Given the description of an element on the screen output the (x, y) to click on. 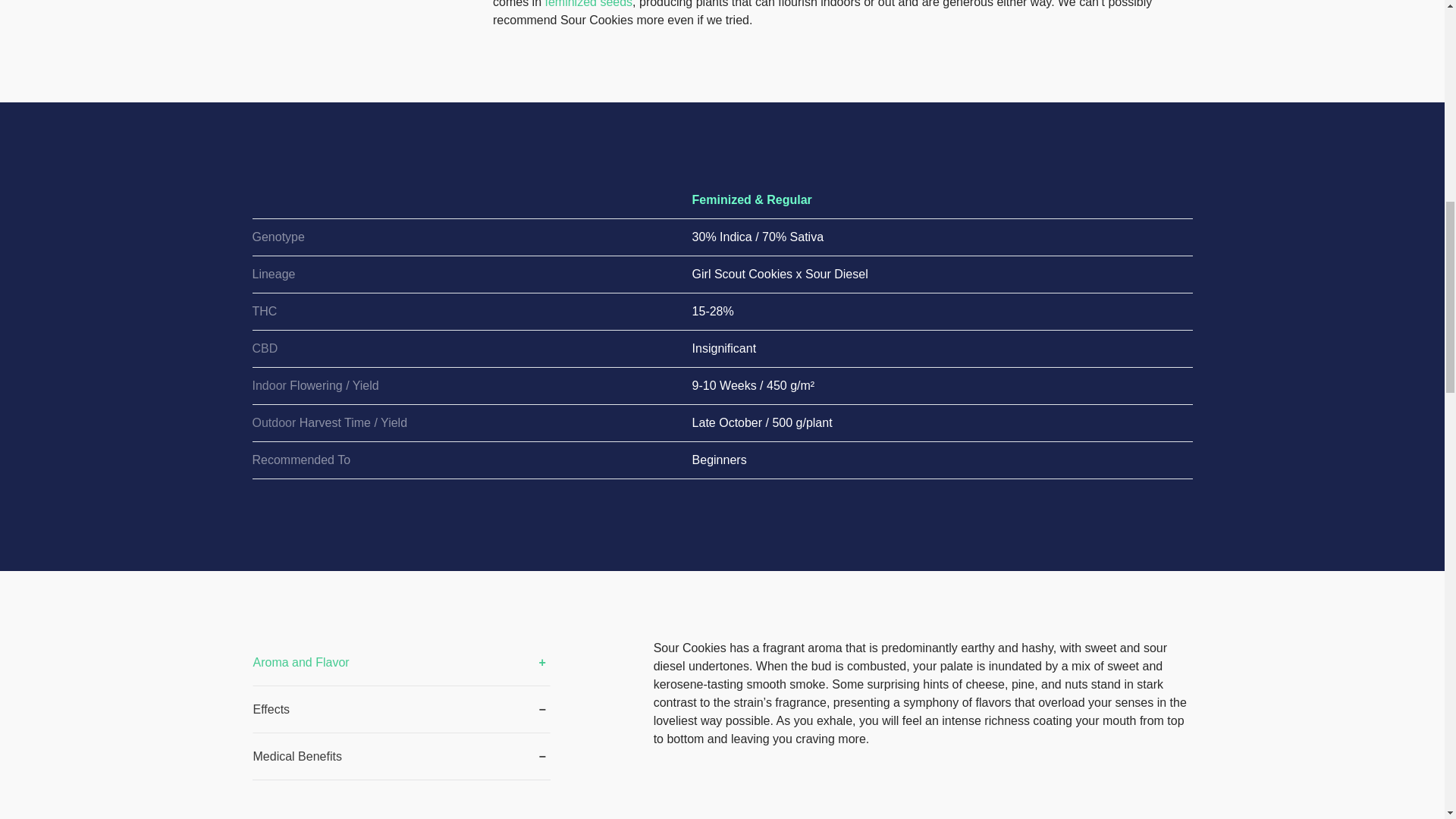
Effects (400, 709)
Outdoor (273, 422)
Medical Benefits (400, 756)
Outdoor (273, 422)
Aroma and Flavor (400, 662)
Indoor (268, 385)
feminized seeds (587, 4)
Indoor (268, 385)
CBD (264, 348)
feminized seeds (587, 4)
CBD (264, 348)
